Given the description of an element on the screen output the (x, y) to click on. 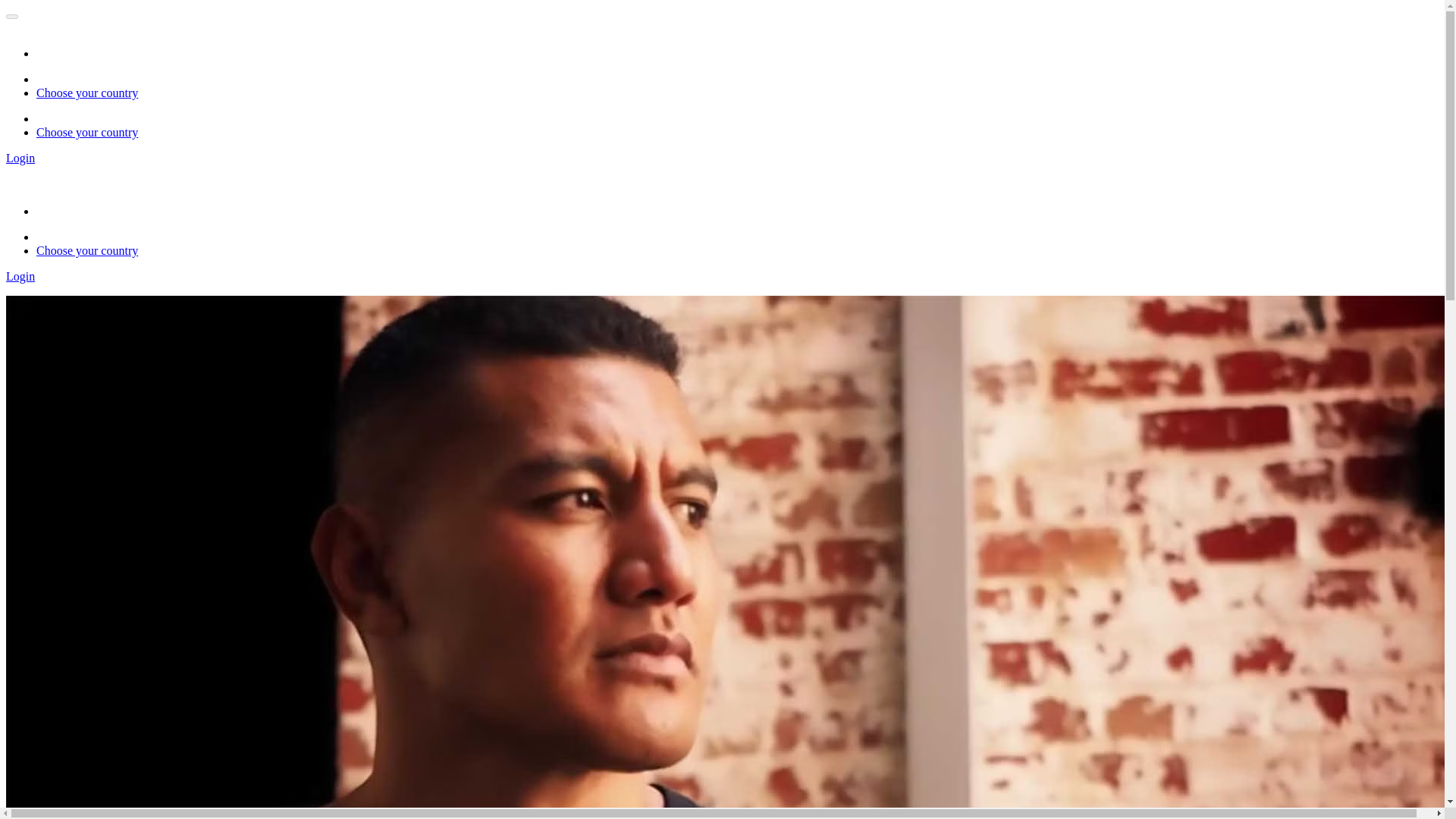
Choose your country (87, 250)
Choose your country (87, 92)
Choose your country (87, 132)
